Given the description of an element on the screen output the (x, y) to click on. 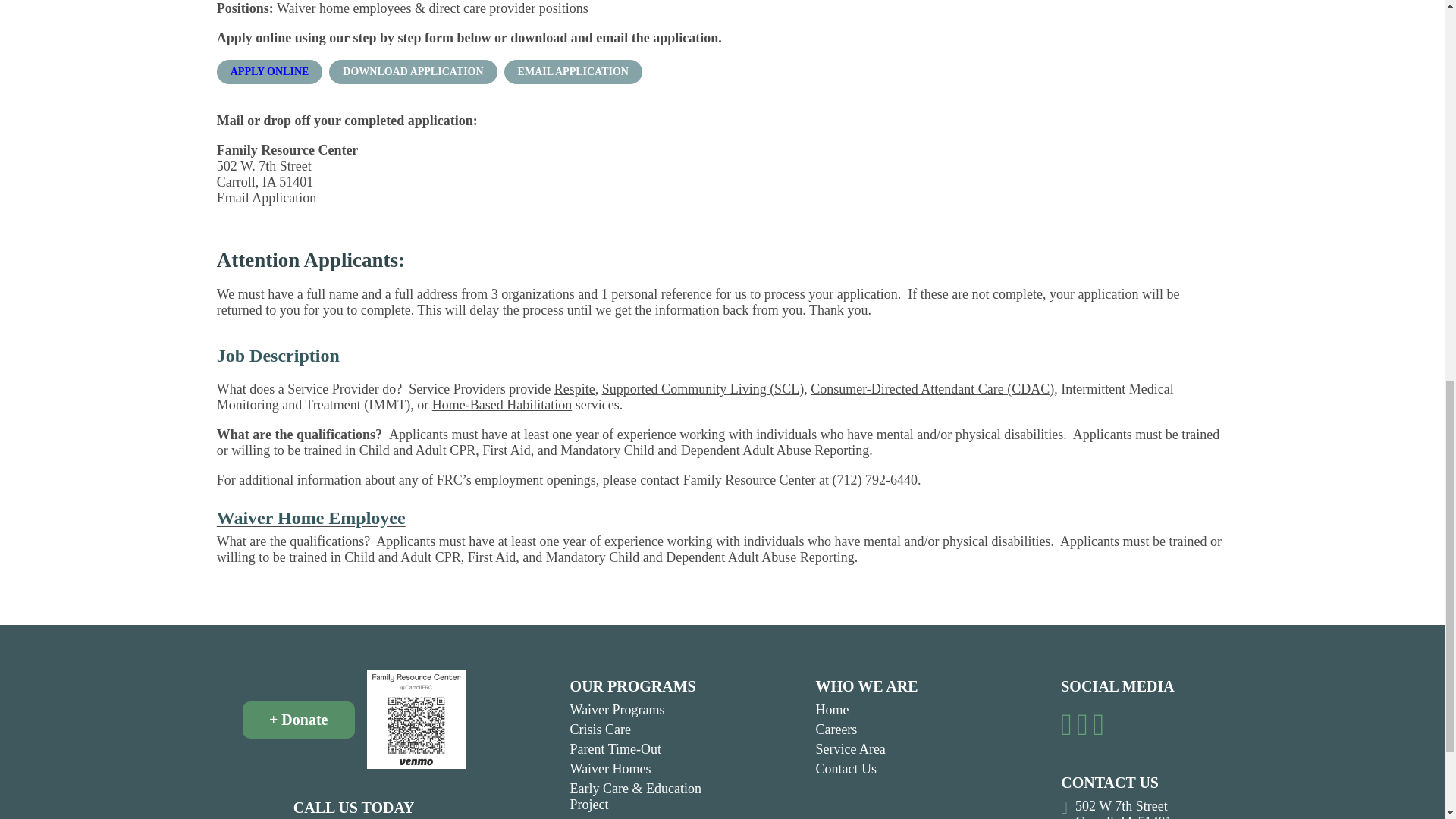
EMAIL APPLICATION (572, 71)
Waiver Home Employee (722, 517)
Home-Based Habilitation (502, 404)
DOWNLOAD APPLICATION (412, 71)
Email Application (265, 197)
What does a Service Provider do? (308, 388)
APPLY ONLINE (269, 71)
Respite (574, 388)
